Given the description of an element on the screen output the (x, y) to click on. 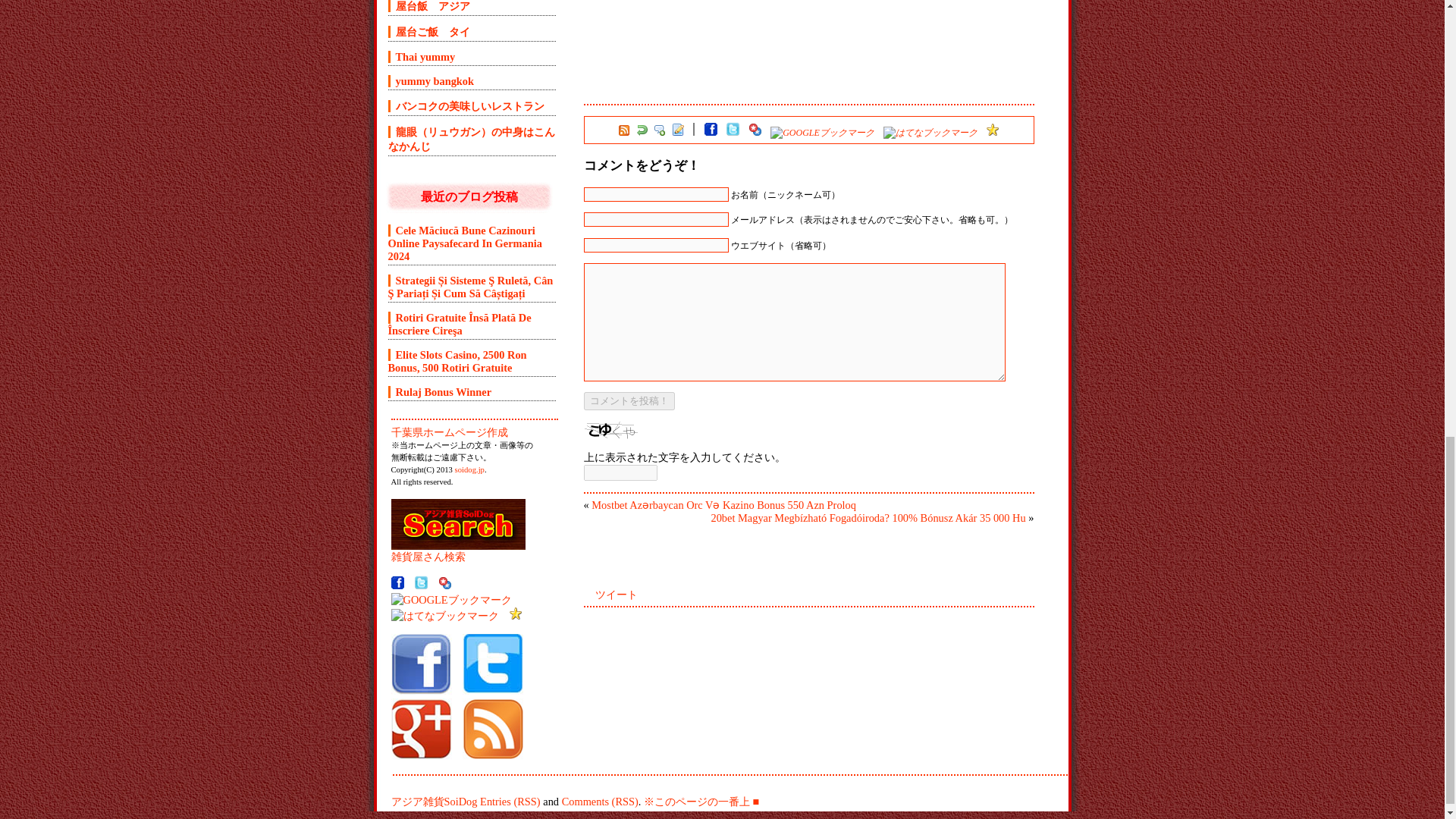
Thai yummy (421, 56)
yummy bangkok (431, 80)
Advertisement (761, 92)
